Given the description of an element on the screen output the (x, y) to click on. 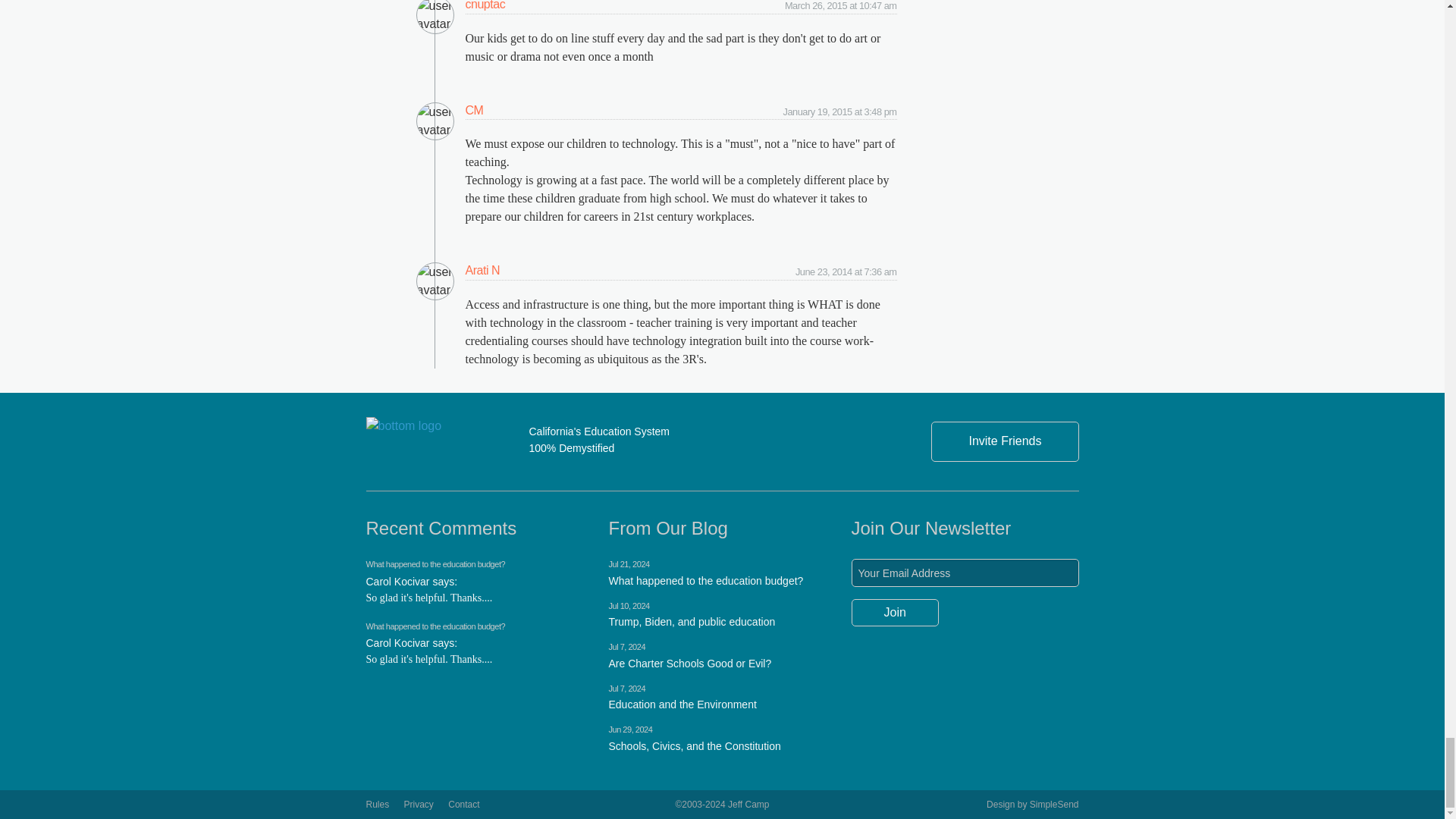
Join (895, 612)
